Given the description of an element on the screen output the (x, y) to click on. 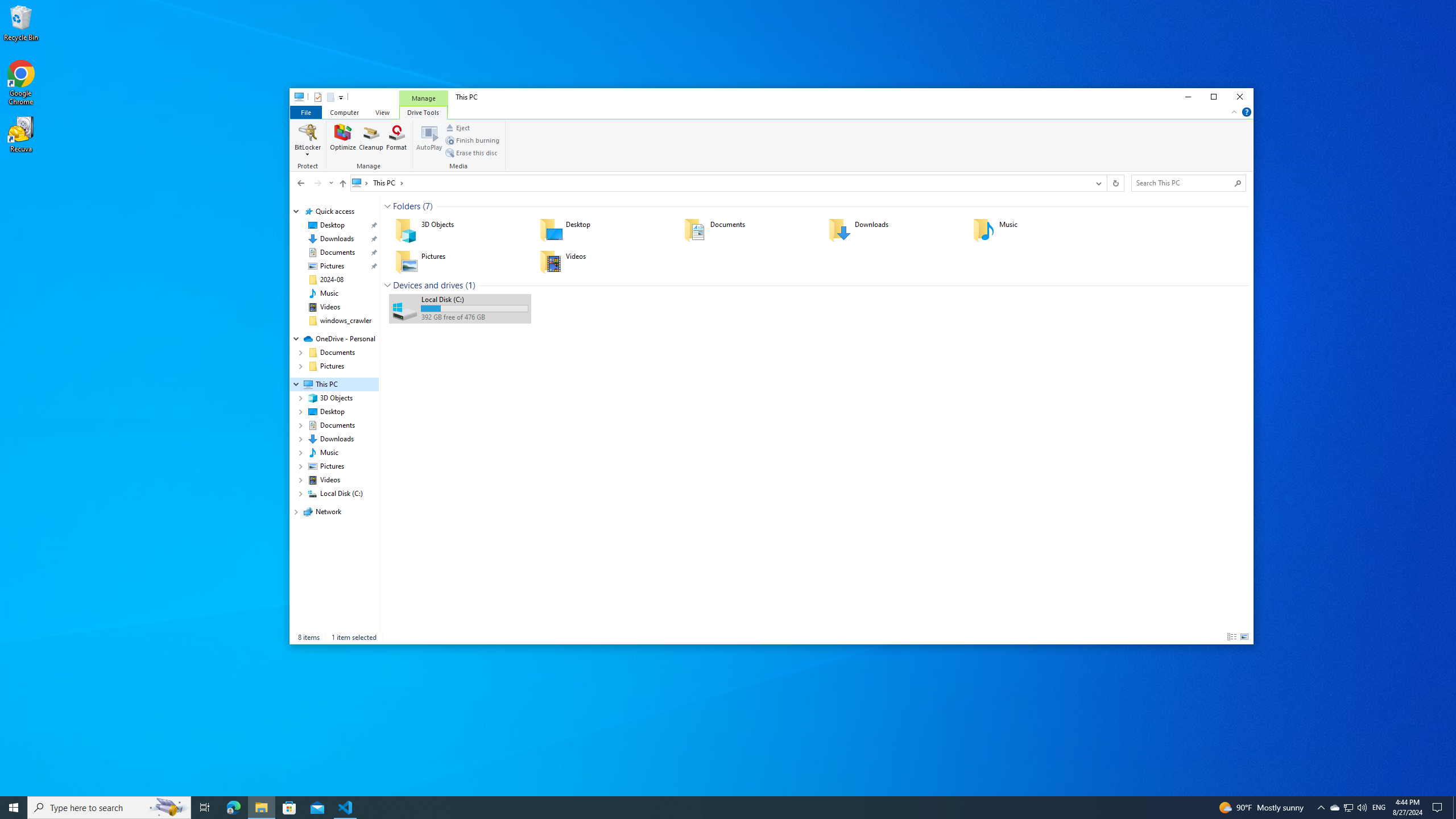
Back to Local Disk (C:) (Alt + Left Arrow) (300, 182)
Downloads (892, 229)
Documents (748, 229)
Refresh "This PC" (F5) (1115, 182)
Optimize (343, 140)
Address band toolbar (1106, 182)
Minimize (1187, 96)
Navigation buttons (314, 182)
Erase this disc (471, 152)
New folder (330, 96)
File tab (305, 111)
Videos (329, 306)
Desktop (603, 229)
